Given the description of an element on the screen output the (x, y) to click on. 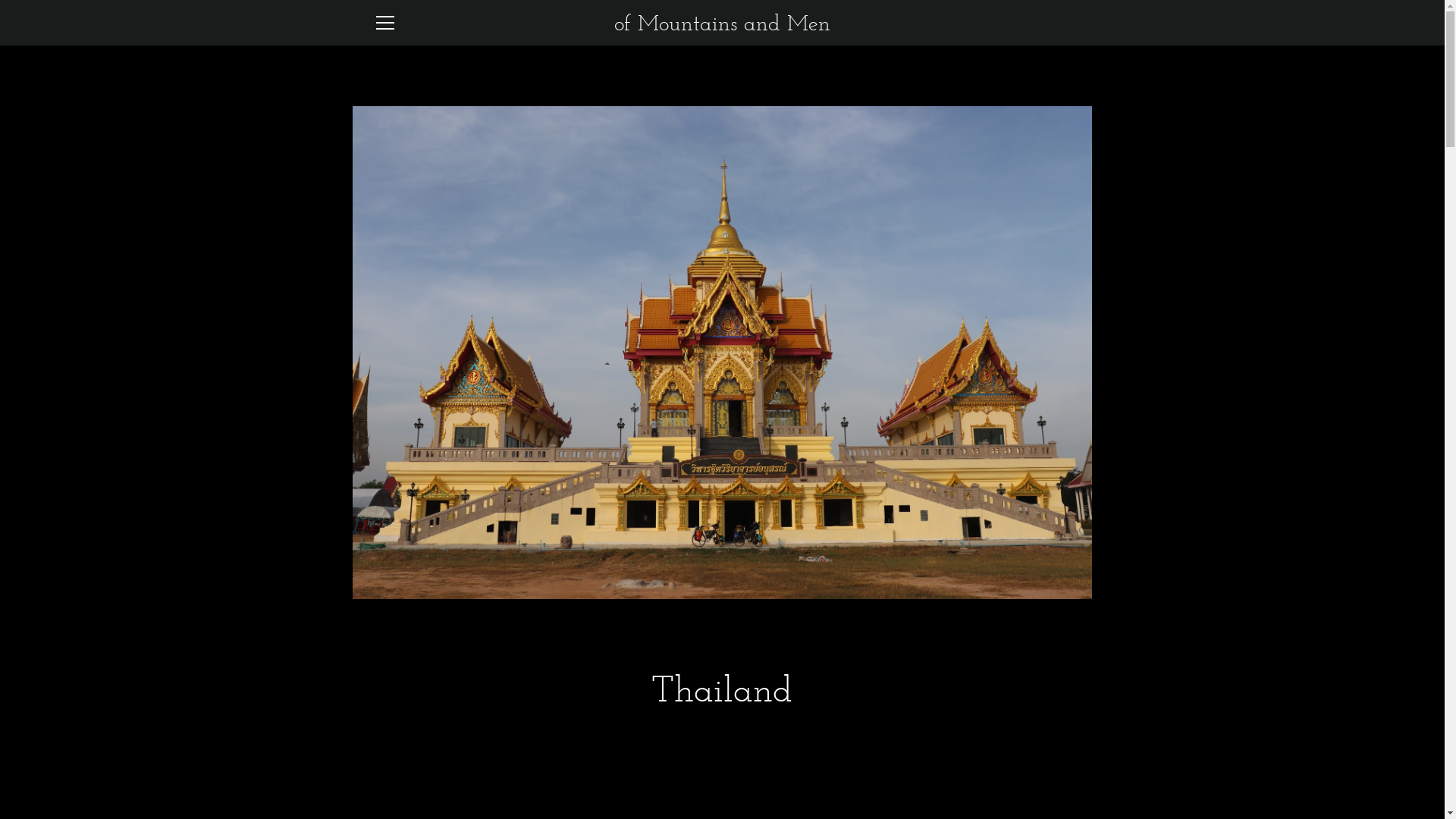
Instagram Element type: text (372, 776)
of Mountains and Men Element type: text (722, 22)
MENU Element type: text (384, 22)
of Mountains and Men Element type: text (1007, 777)
Skip to content Element type: text (0, 0)
